Given the description of an element on the screen output the (x, y) to click on. 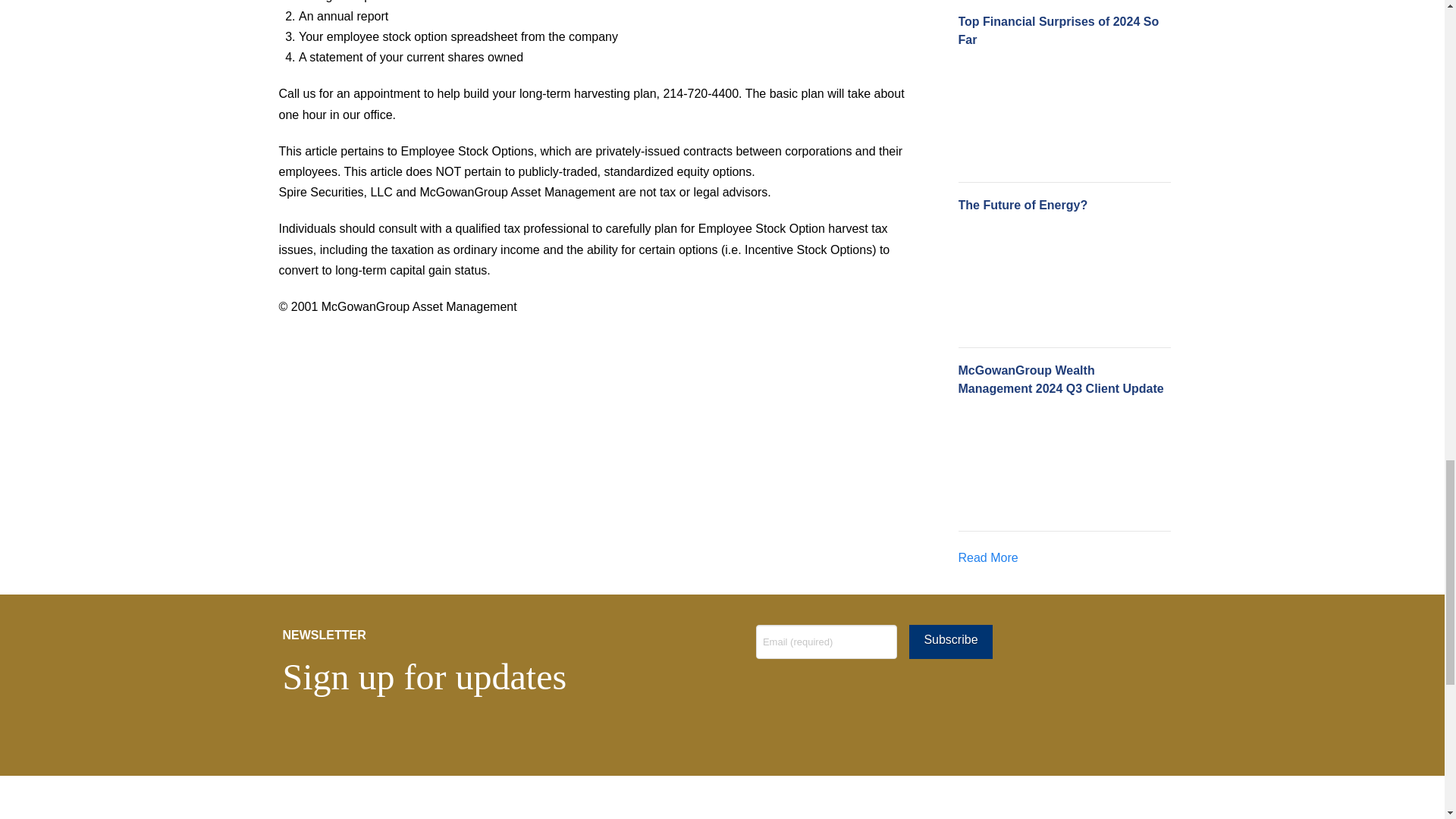
Subscribe (949, 641)
Top Financial Surprises of 2024 So Far (1014, 113)
McGowanGroup Wealth Management 2024 Q3 Client Update (1014, 462)
The Future of Energy? (1014, 278)
